Given the description of an element on the screen output the (x, y) to click on. 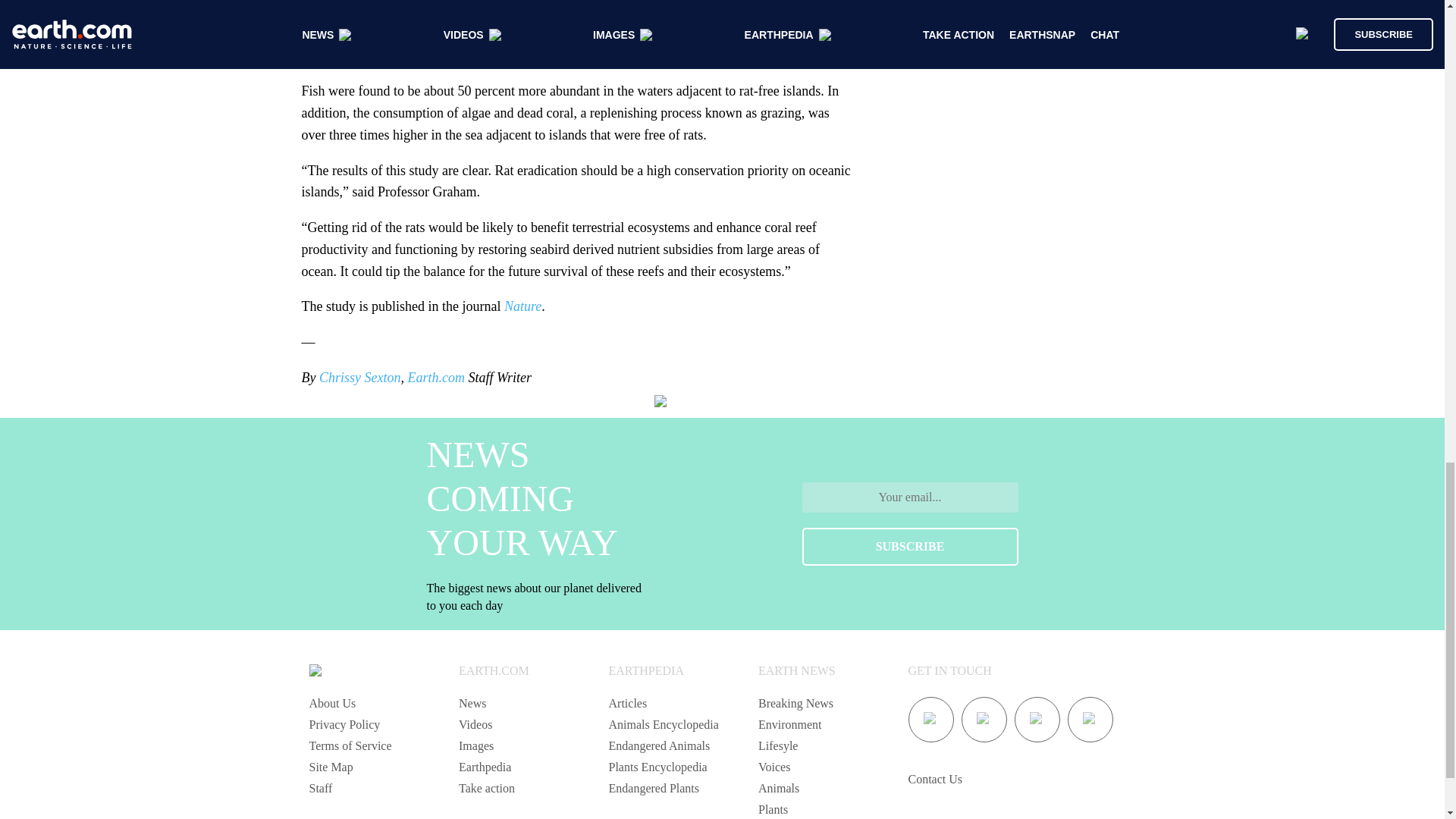
Earth.com (435, 377)
Nature (522, 305)
Chrissy Sexton (359, 377)
SUBSCRIBE (909, 546)
